Given the description of an element on the screen output the (x, y) to click on. 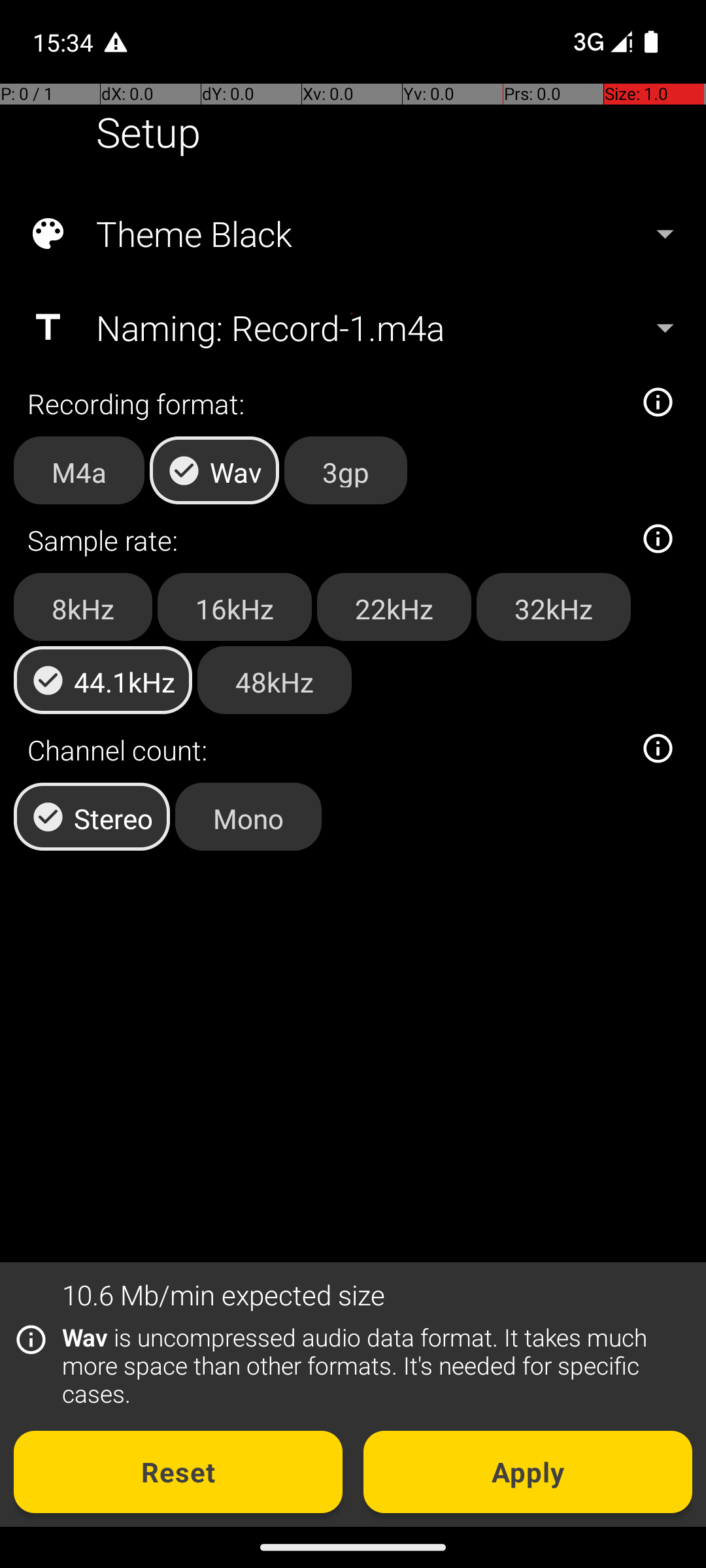
10.6 Mb/min expected size Element type: android.widget.TextView (223, 1294)
Wav is uncompressed audio data format. It takes much more space than other formats. It's needed for specific cases. Element type: android.widget.TextView (370, 1364)
Theme Black Element type: android.widget.TextView (352, 233)
